Given the description of an element on the screen output the (x, y) to click on. 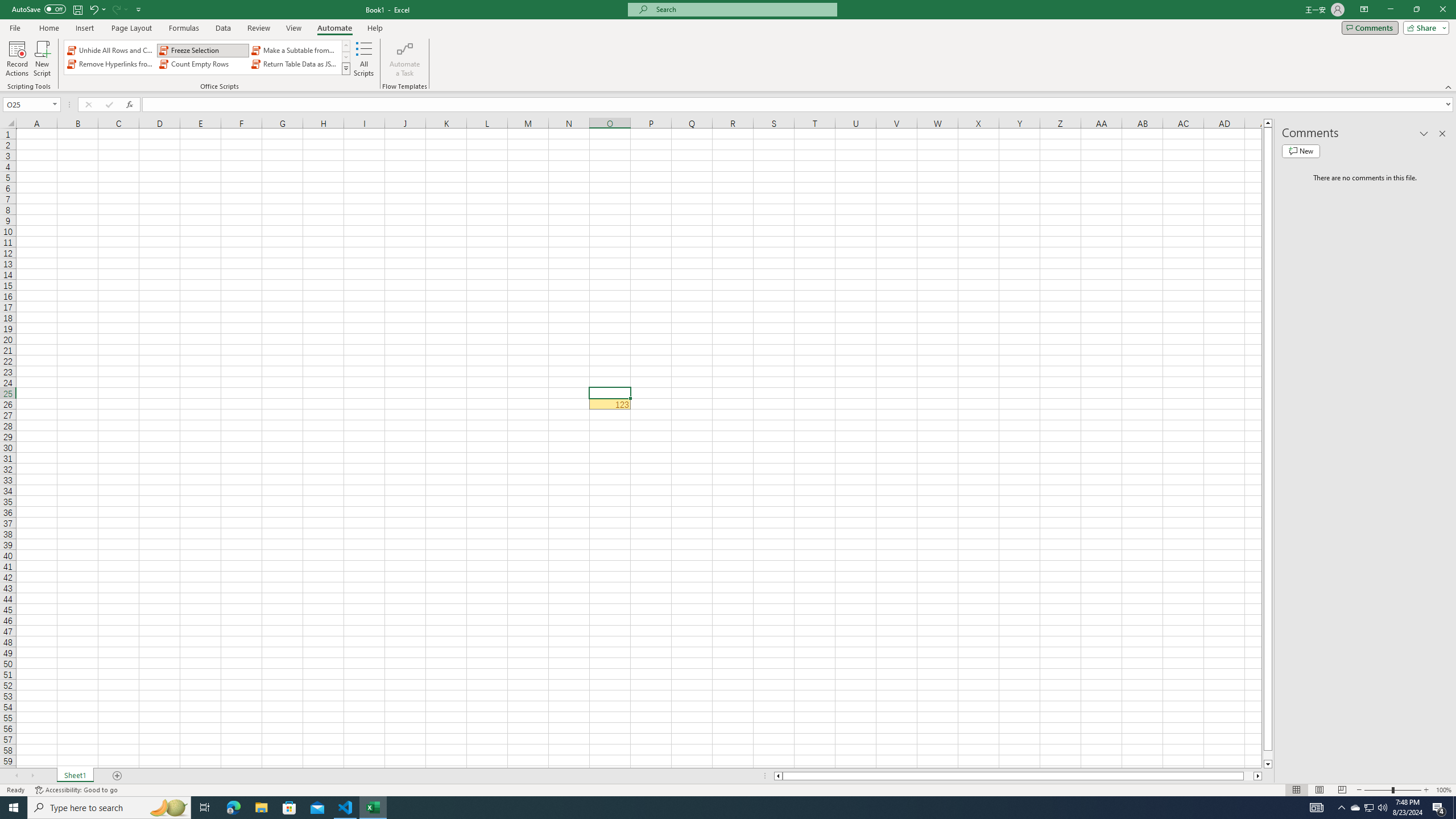
Page Layout (131, 28)
Scroll Right (32, 775)
Accessibility Checker Accessibility: Good to go (76, 790)
AutoSave (38, 9)
Undo (96, 9)
Page Break Preview (1342, 790)
View (293, 28)
Normal (1296, 790)
Unhide All Rows and Columns (111, 50)
Ribbon Display Options (1364, 9)
Scroll Left (16, 775)
Zoom In (1426, 790)
Class: MsoCommandBar (728, 45)
Customize Quick Access Toolbar (139, 9)
